Given the description of an element on the screen output the (x, y) to click on. 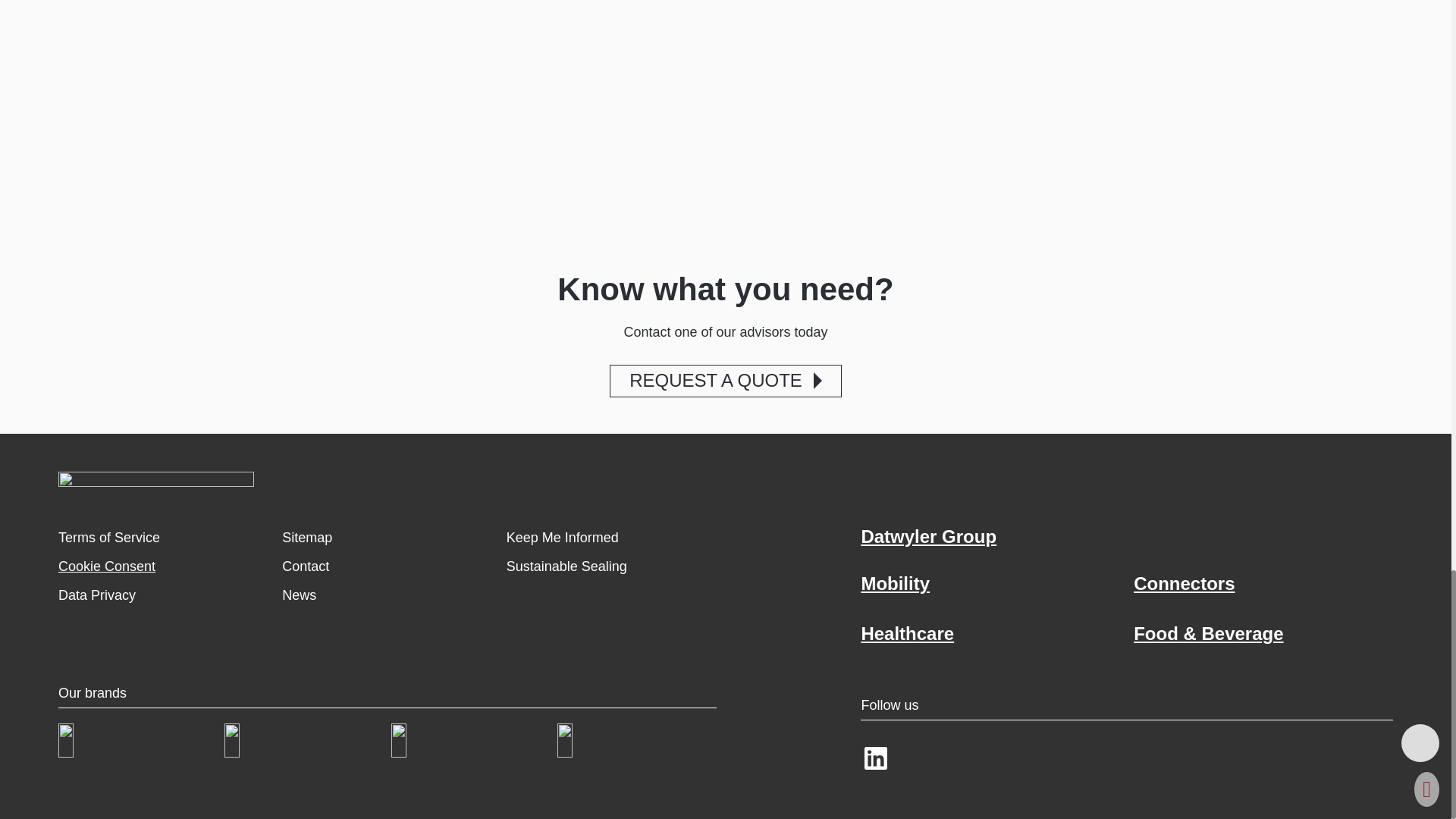
Terms of Service (109, 537)
Cookie Consent (106, 566)
REQUEST A QUOTE (725, 380)
